Given the description of an element on the screen output the (x, y) to click on. 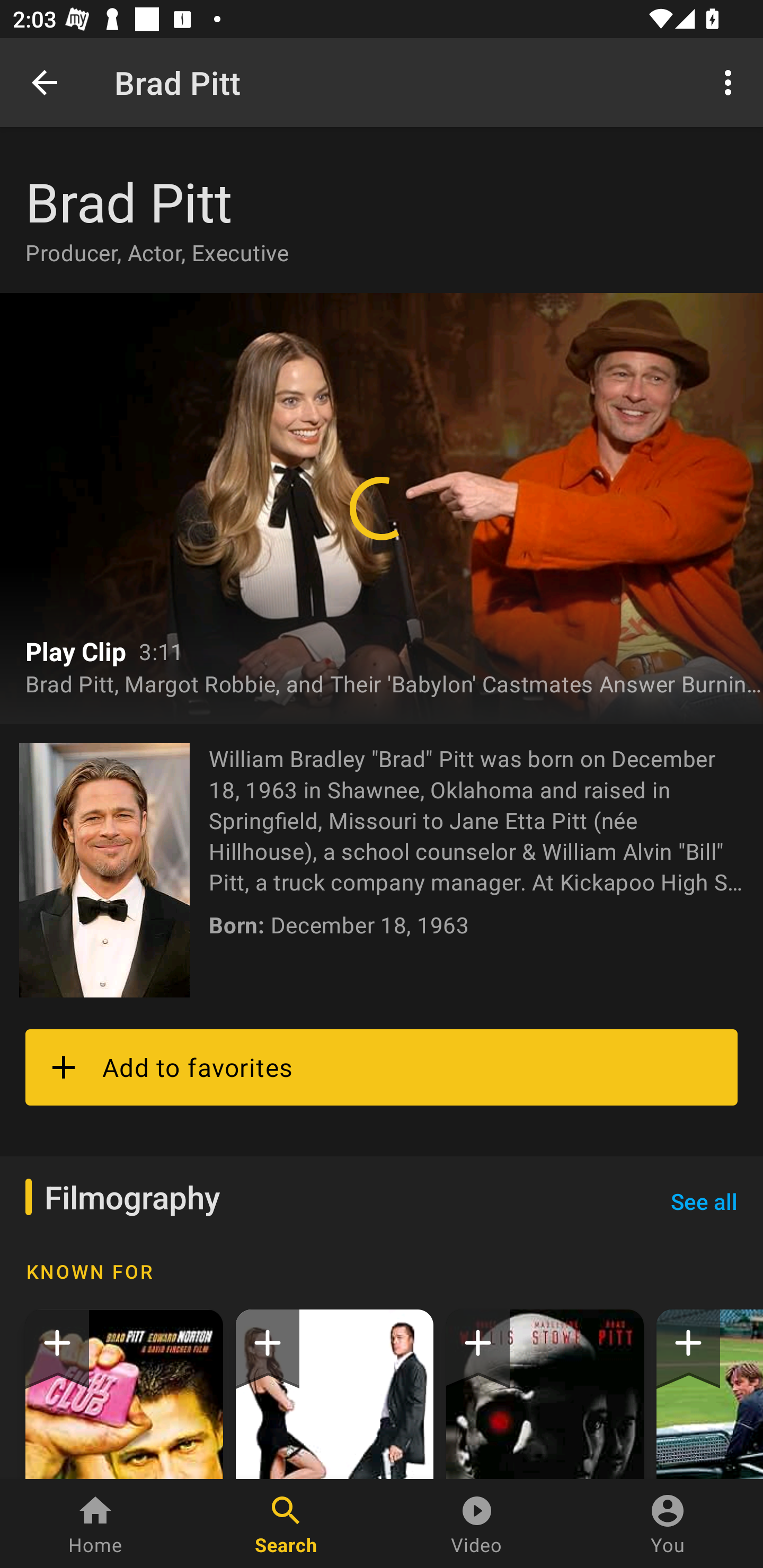
More options (731, 81)
Add to favorites (381, 1066)
See all See all  (703, 1201)
Home (95, 1523)
Video (476, 1523)
You (667, 1523)
